Given the description of an element on the screen output the (x, y) to click on. 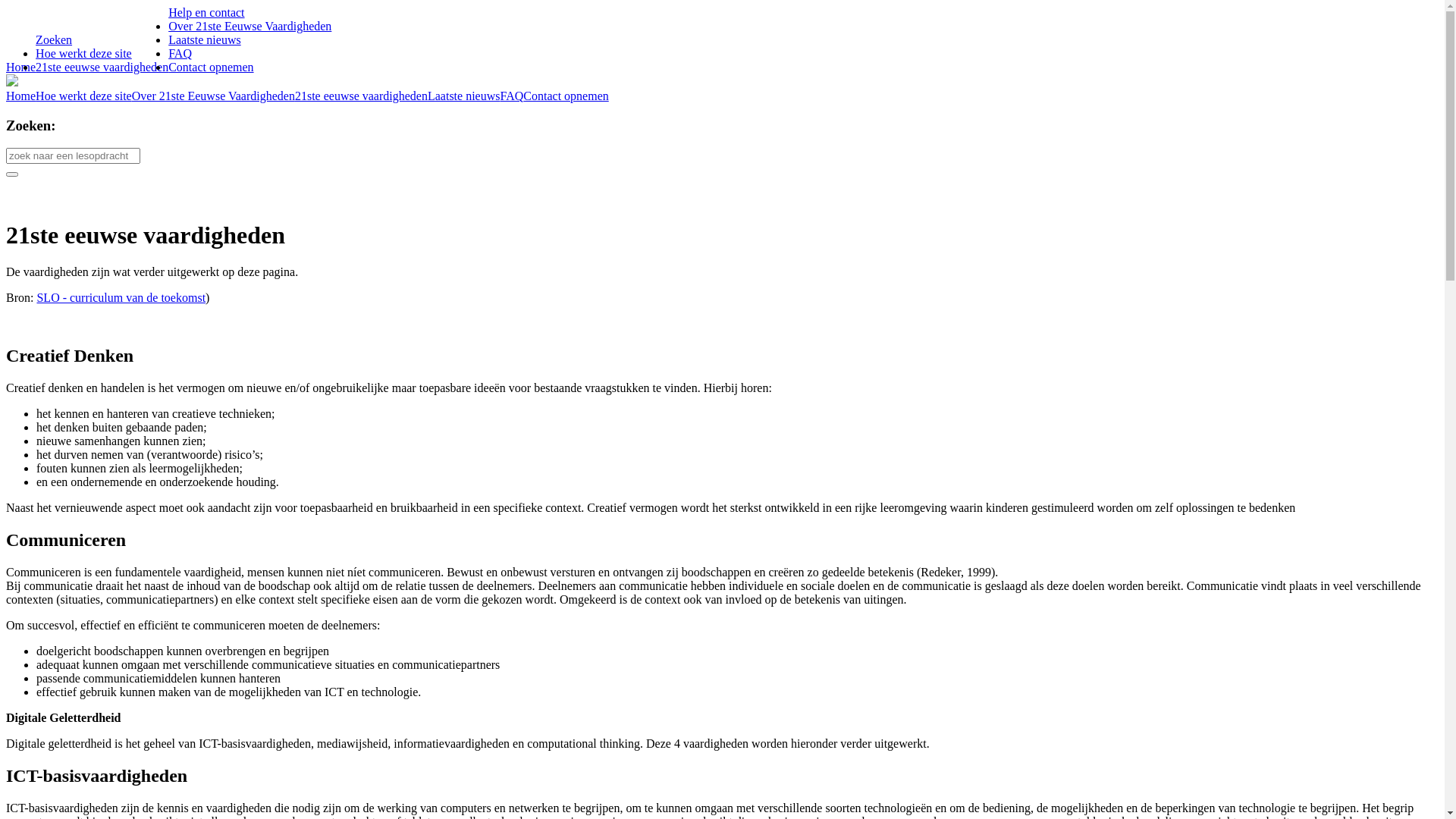
Over 21ste Eeuwse Vaardigheden Element type: text (212, 95)
21ste eeuwse vaardigheden Element type: text (360, 95)
Laatste nieuws Element type: text (204, 39)
Zoeken Element type: text (53, 39)
Hoe werkt deze site Element type: text (83, 95)
Hoe werkt deze site Element type: text (83, 53)
Home Element type: text (20, 95)
FAQ Element type: text (179, 53)
Contact opnemen Element type: text (565, 95)
21ste eeuwse vaardigheden Element type: text (101, 66)
Laatste nieuws Element type: text (463, 95)
FAQ Element type: text (511, 95)
Over 21ste Eeuwse Vaardigheden Element type: text (249, 25)
Help en contact Element type: text (206, 12)
Home Element type: text (20, 66)
SLO - curriculum van de toekomst Element type: text (120, 297)
Contact opnemen Element type: text (210, 66)
